Given the description of an element on the screen output the (x, y) to click on. 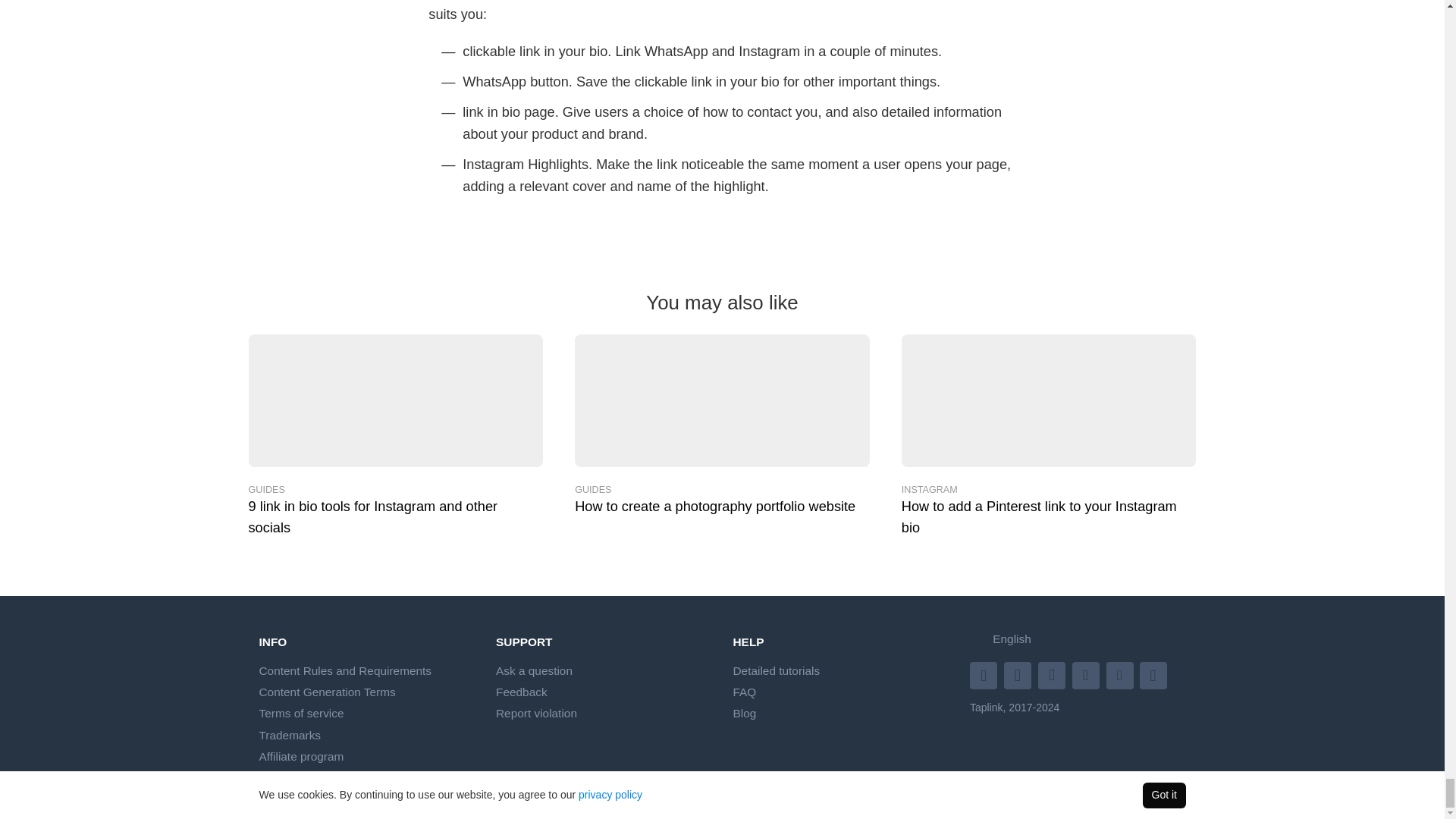
Telegram (1155, 673)
Youtube (1019, 673)
Youtube (985, 673)
X (1121, 673)
9 link in bio tools for Instagram and other socials (395, 400)
How to add a Pinterest link to your Instagram bio (1048, 400)
How to create a photography portfolio website (722, 400)
LinkedIn (1087, 673)
Facebook (1053, 673)
